Given the description of an element on the screen output the (x, y) to click on. 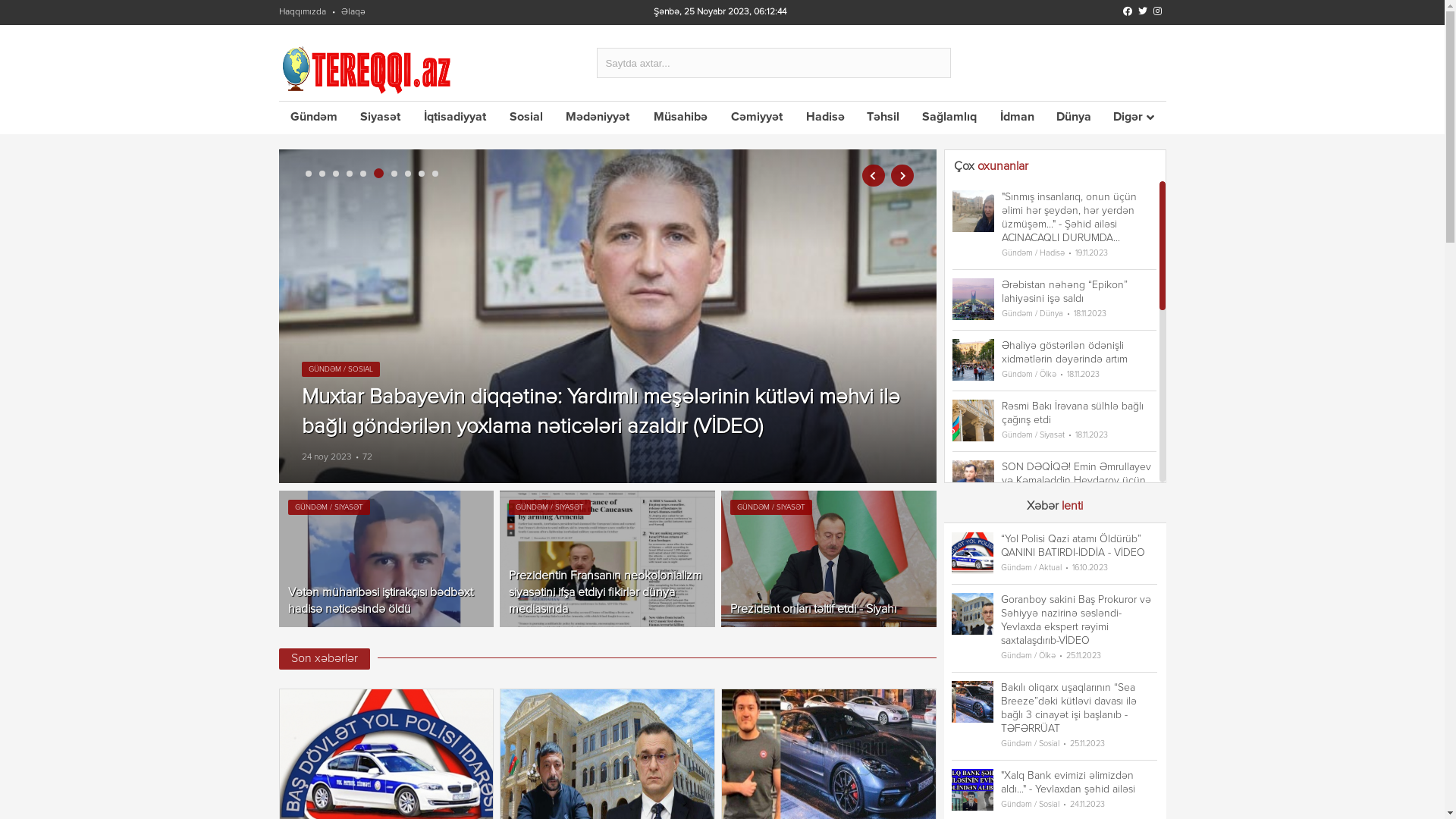
Sosial Element type: text (525, 117)
Tereqqi.az Element type: text (369, 68)
